Given the description of an element on the screen output the (x, y) to click on. 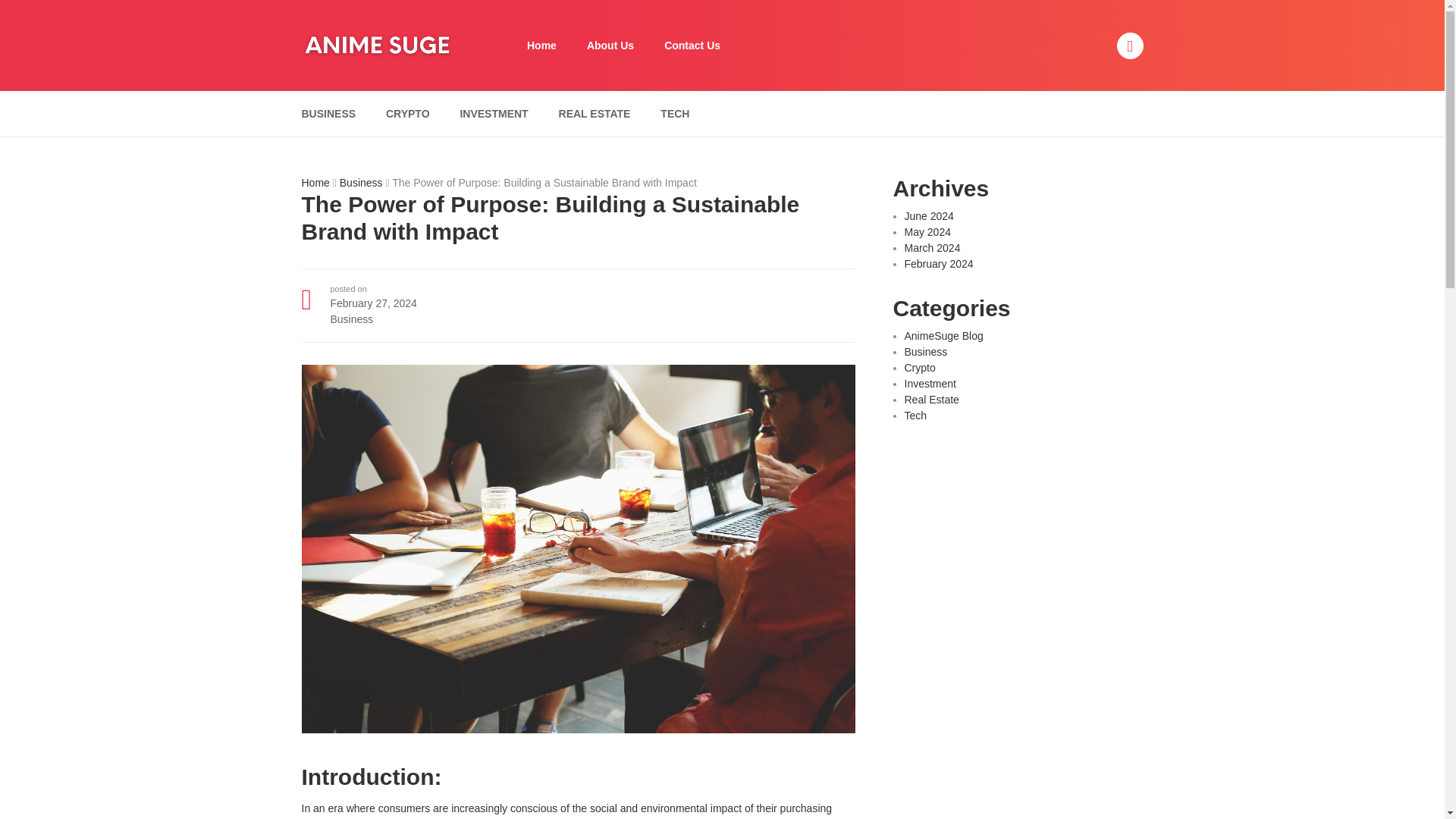
Business (925, 351)
INVESTMENT (493, 113)
Business (352, 318)
Investment (929, 383)
Contact Us (692, 45)
REAL ESTATE (594, 113)
Home (542, 45)
AnimeSuge Blog (943, 336)
TECH (674, 113)
Search (970, 9)
CRYPTO (407, 113)
Crypto (919, 367)
February 27, 2024 (373, 303)
Business (360, 182)
